Given the description of an element on the screen output the (x, y) to click on. 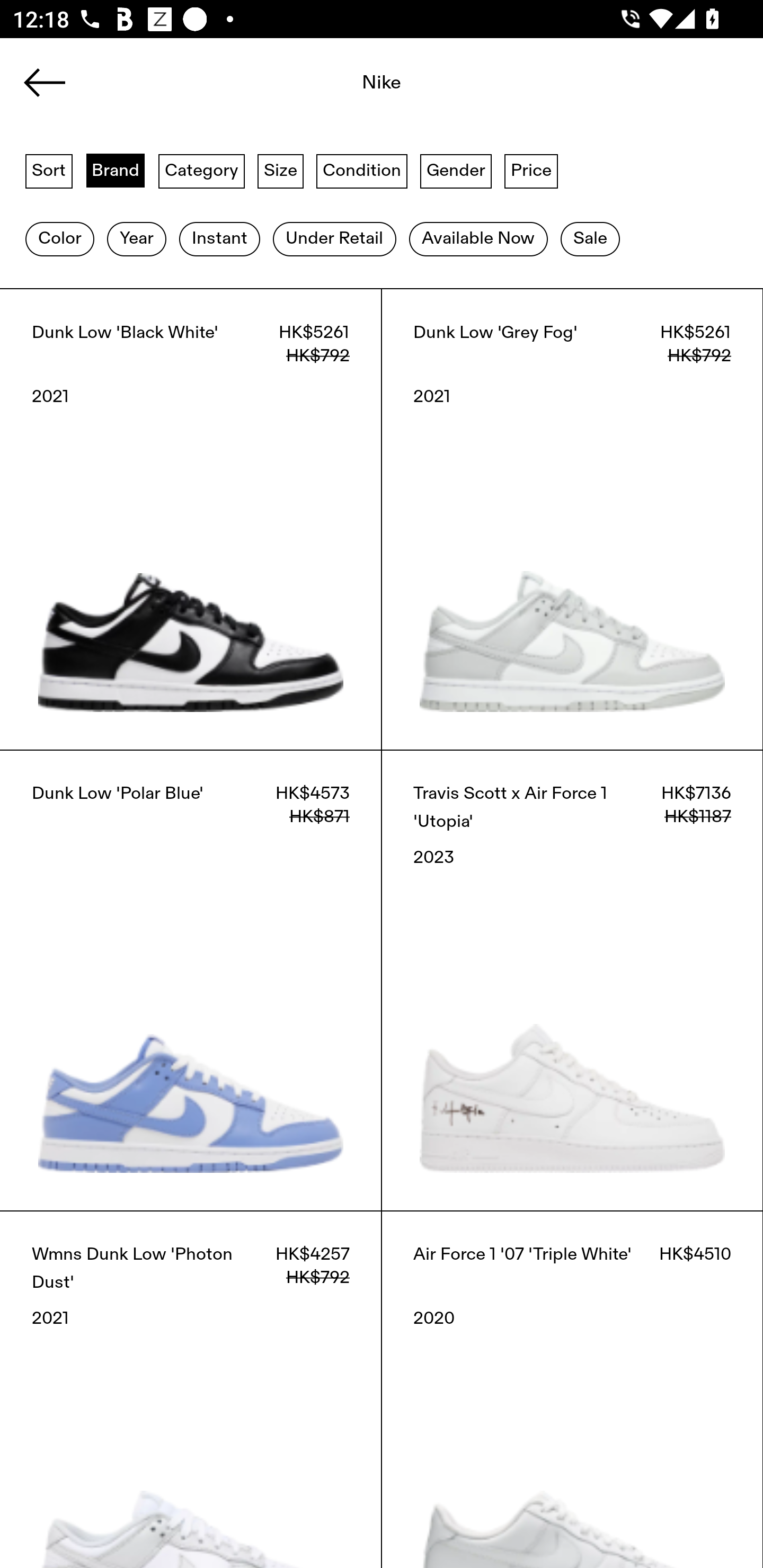
Sort (48, 170)
Brand (115, 170)
Category (201, 170)
Size (280, 170)
Condition (361, 170)
Gender (455, 170)
Price (530, 170)
Color (59, 239)
Year (136, 239)
Instant (219, 239)
Under Retail (334, 239)
Available Now (477, 239)
Sale (589, 239)
Dunk Low 'Black White' HK$5261 HK$792 2021 (190, 518)
Dunk Low 'Grey Fog' HK$5261 HK$792 2021 (572, 518)
Dunk Low 'Polar Blue' HK$4573 HK$871 (190, 979)
Wmns Dunk Low 'Photon Dust' HK$4257 HK$792 2021 (190, 1389)
Air Force 1 '07 'Triple White' HK$4510 2020 (572, 1389)
